Given the description of an element on the screen output the (x, y) to click on. 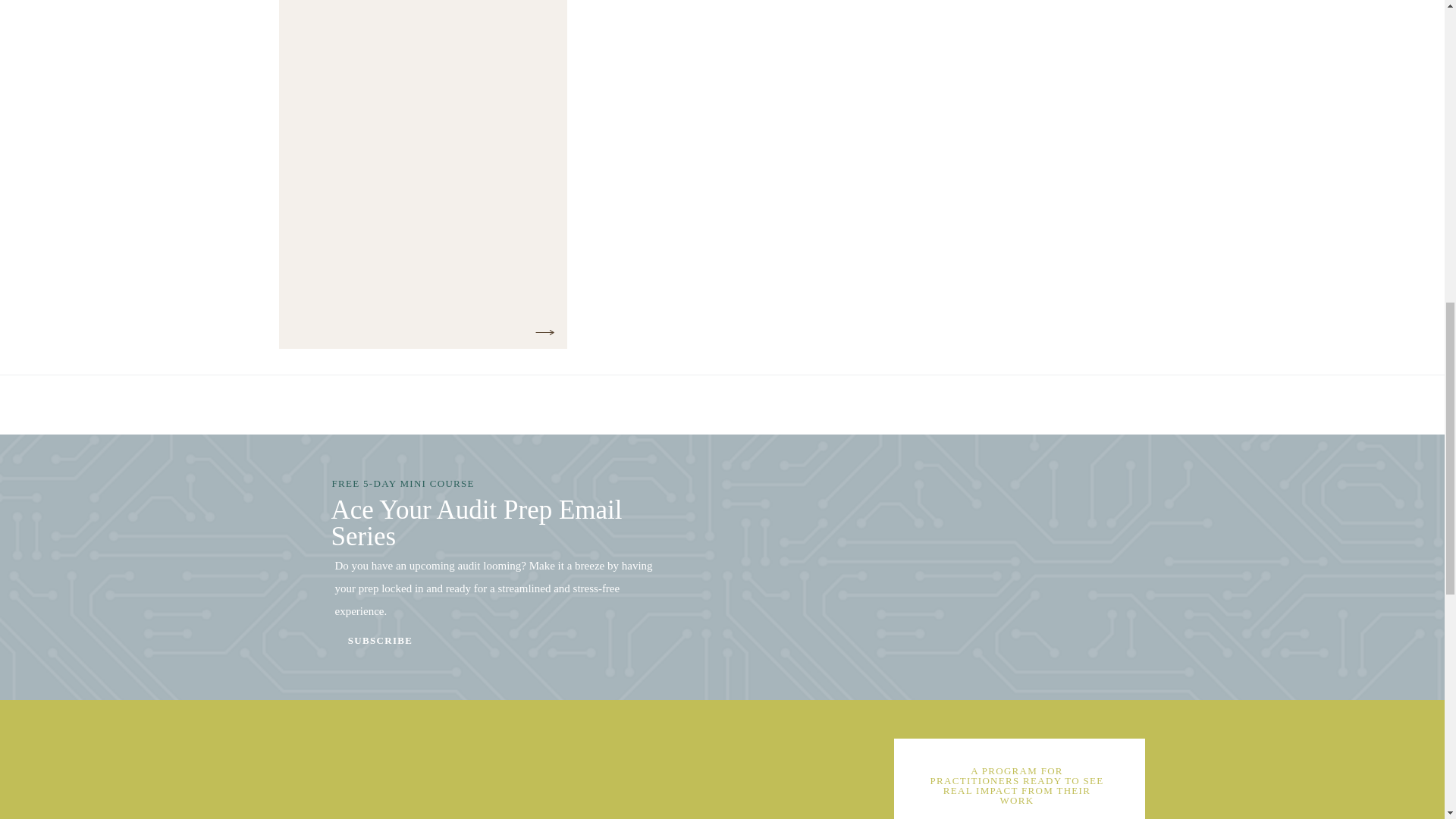
SUBSCRIBE (380, 645)
